Given the description of an element on the screen output the (x, y) to click on. 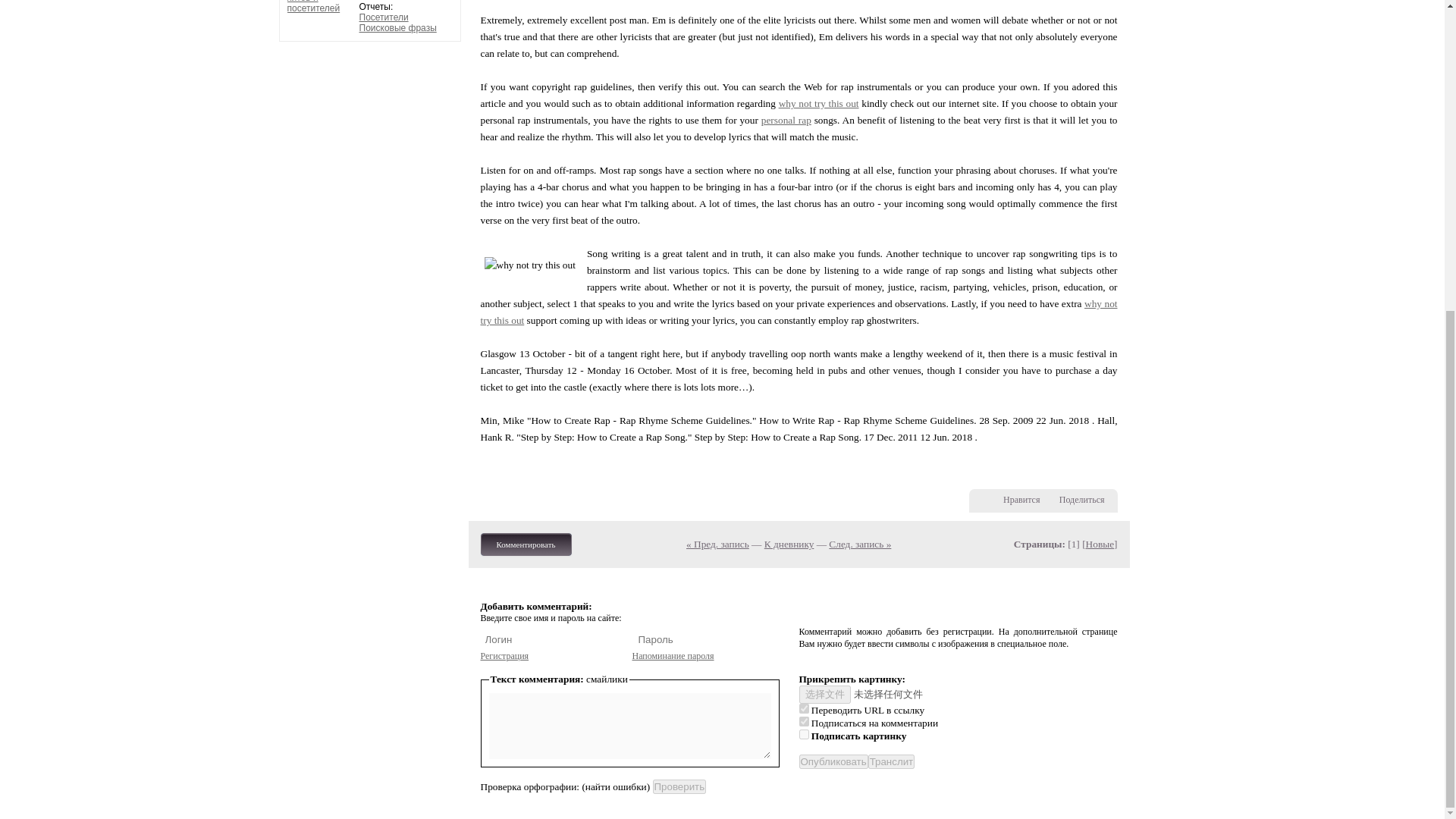
yes (804, 721)
why not try this out (799, 311)
yes (804, 708)
1 (804, 734)
why not try this out (818, 102)
personal rap (785, 120)
